Given the description of an element on the screen output the (x, y) to click on. 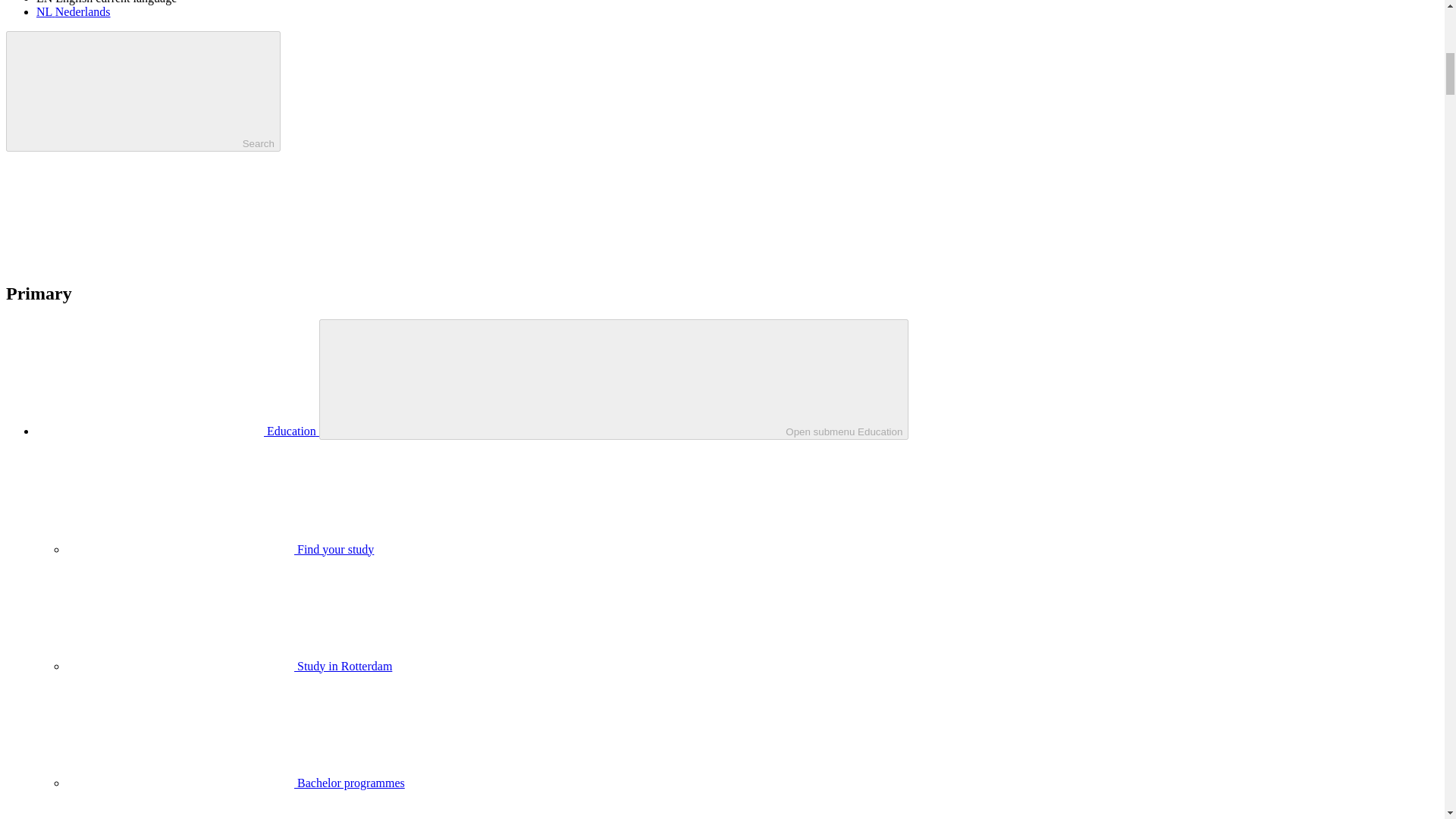
NL Nederlands (73, 11)
Study in Rotterdam (228, 666)
Education (177, 431)
Open submenu Education (613, 379)
Search (143, 91)
Find your study (220, 549)
Bachelor programmes (235, 782)
